Given the description of an element on the screen output the (x, y) to click on. 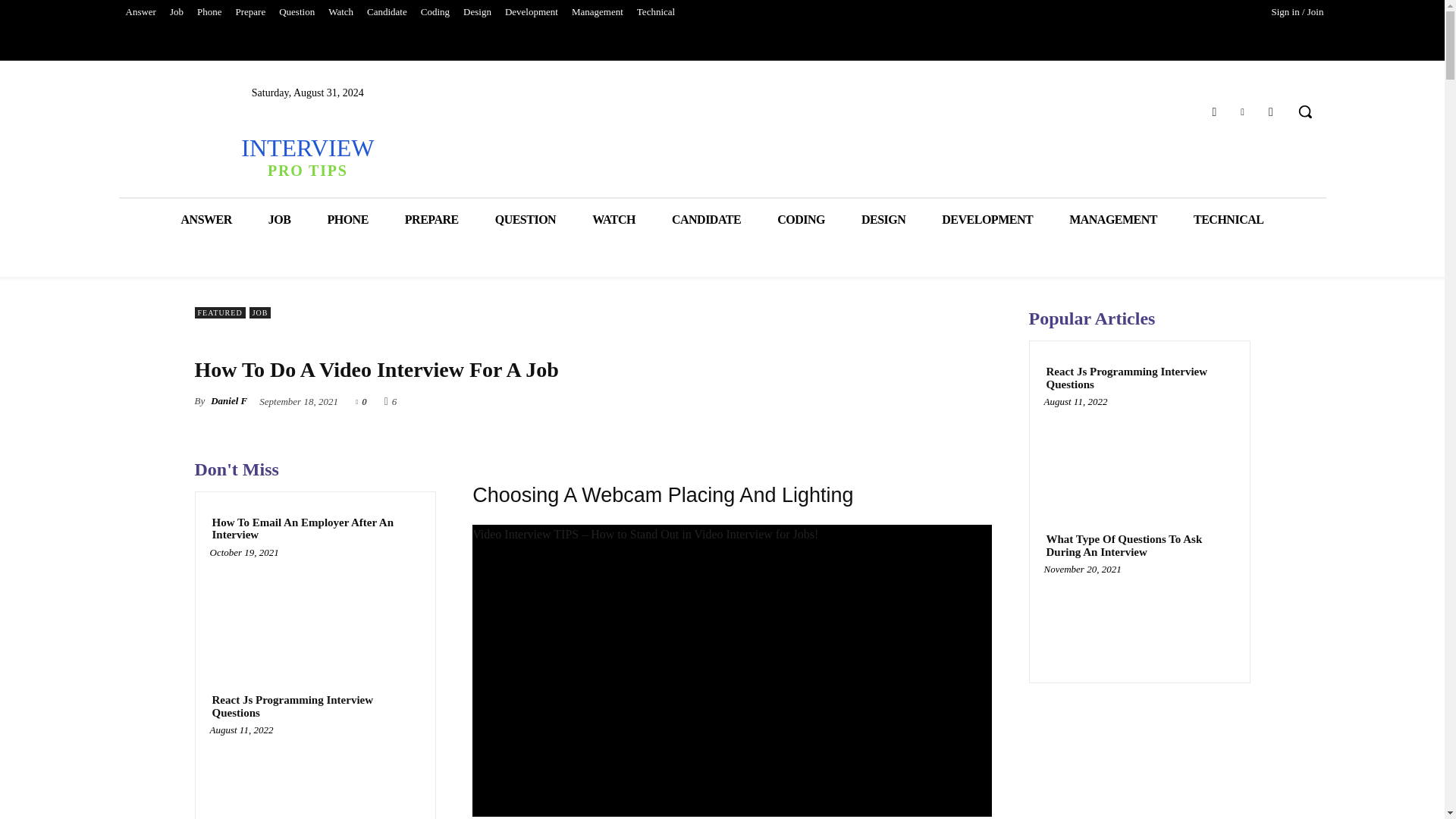
Management (597, 12)
Facebook (1214, 111)
Watch (340, 12)
Technical (655, 12)
Question (296, 12)
Candidate (386, 12)
How To Email An Employer After An Interview (314, 528)
How To Email An Employer After An Interview (314, 608)
Job (176, 12)
Coding (435, 12)
